Given the description of an element on the screen output the (x, y) to click on. 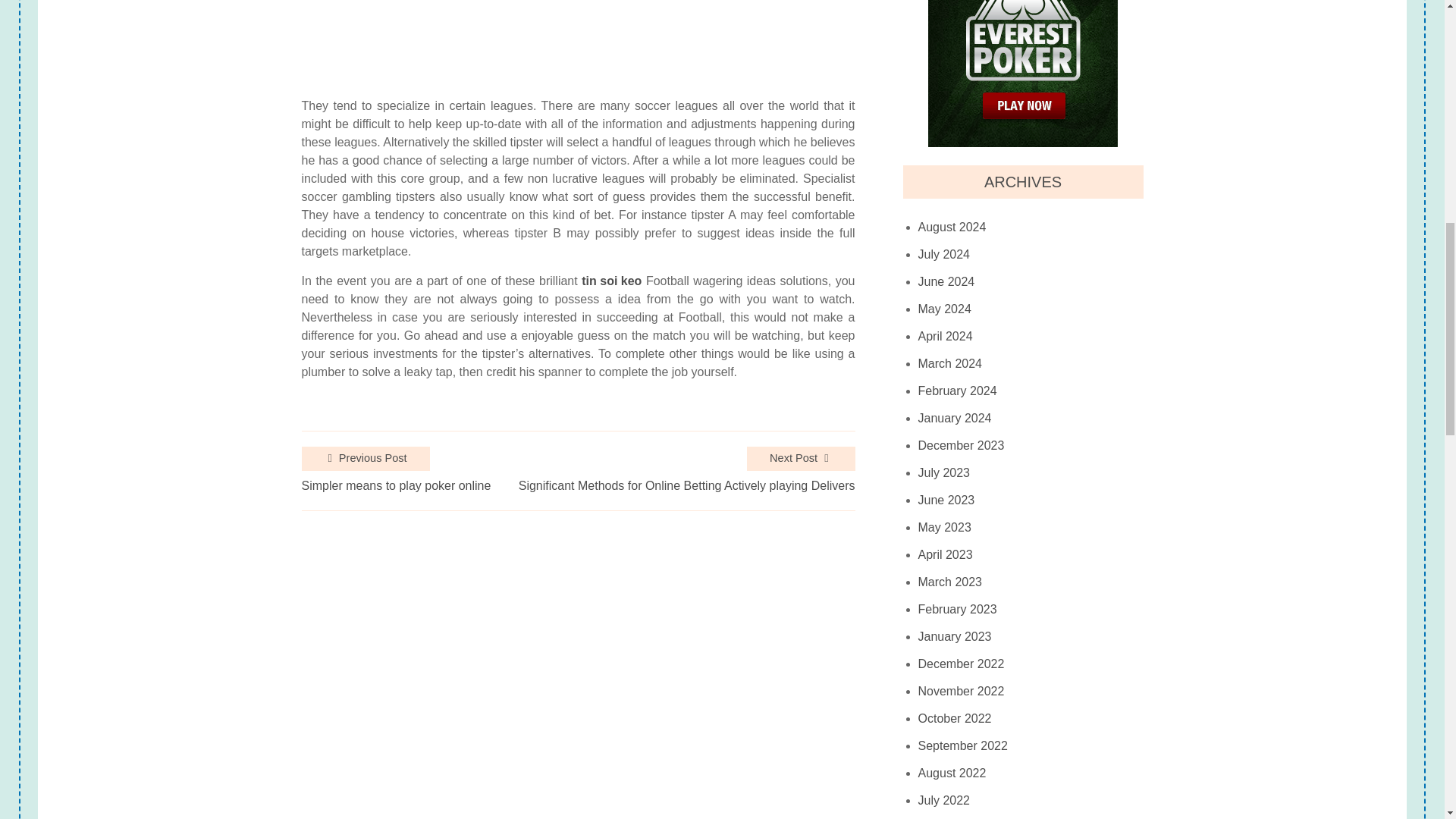
July 2023 (944, 472)
January 2023 (954, 636)
April 2024 (945, 336)
December 2023 (961, 445)
June 2023 (946, 500)
March 2023 (950, 582)
July 2024 (944, 254)
May 2023 (944, 527)
December 2022 (961, 664)
